Given the description of an element on the screen output the (x, y) to click on. 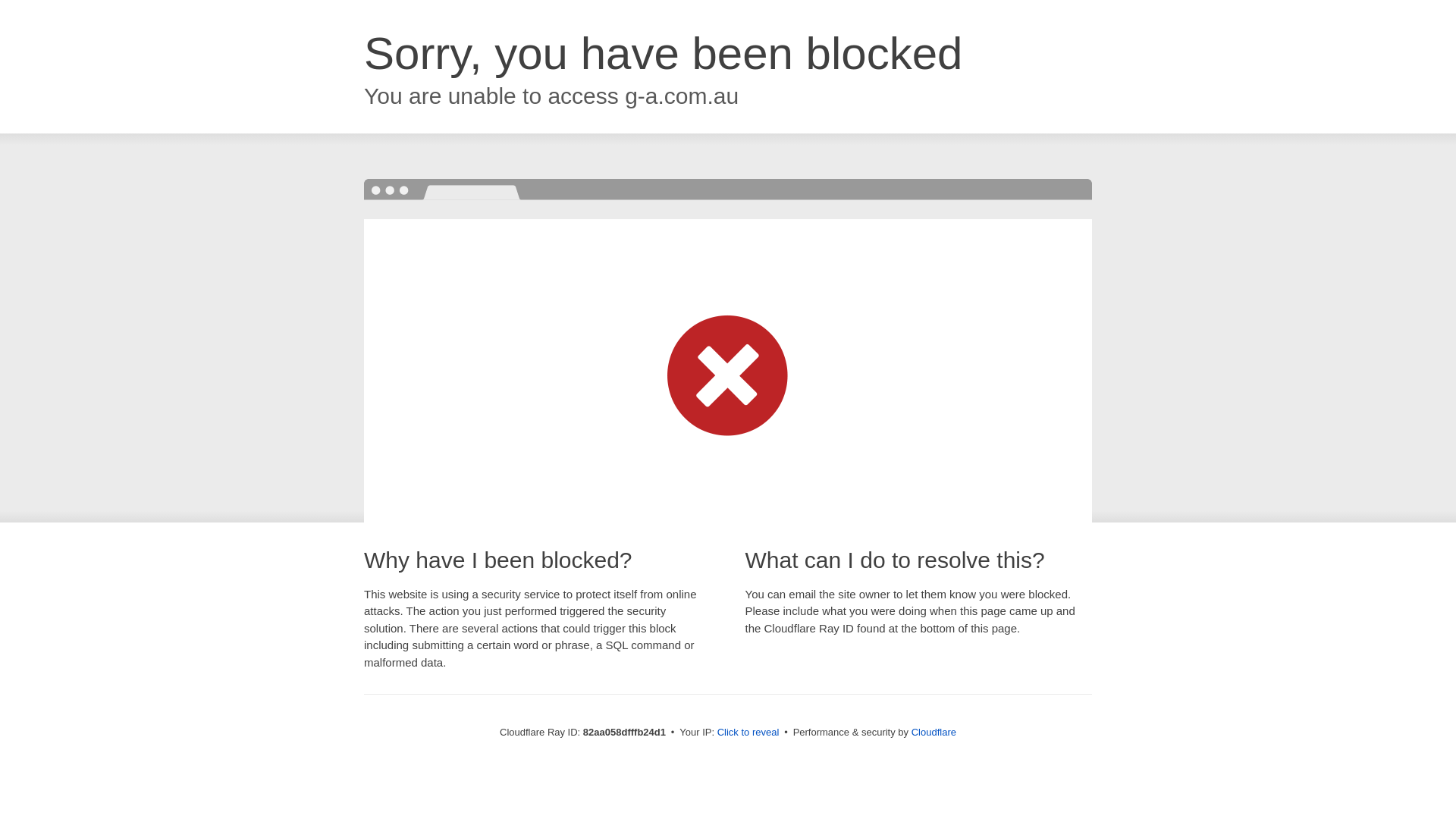
Cloudflare Element type: text (933, 731)
Click to reveal Element type: text (748, 732)
